Given the description of an element on the screen output the (x, y) to click on. 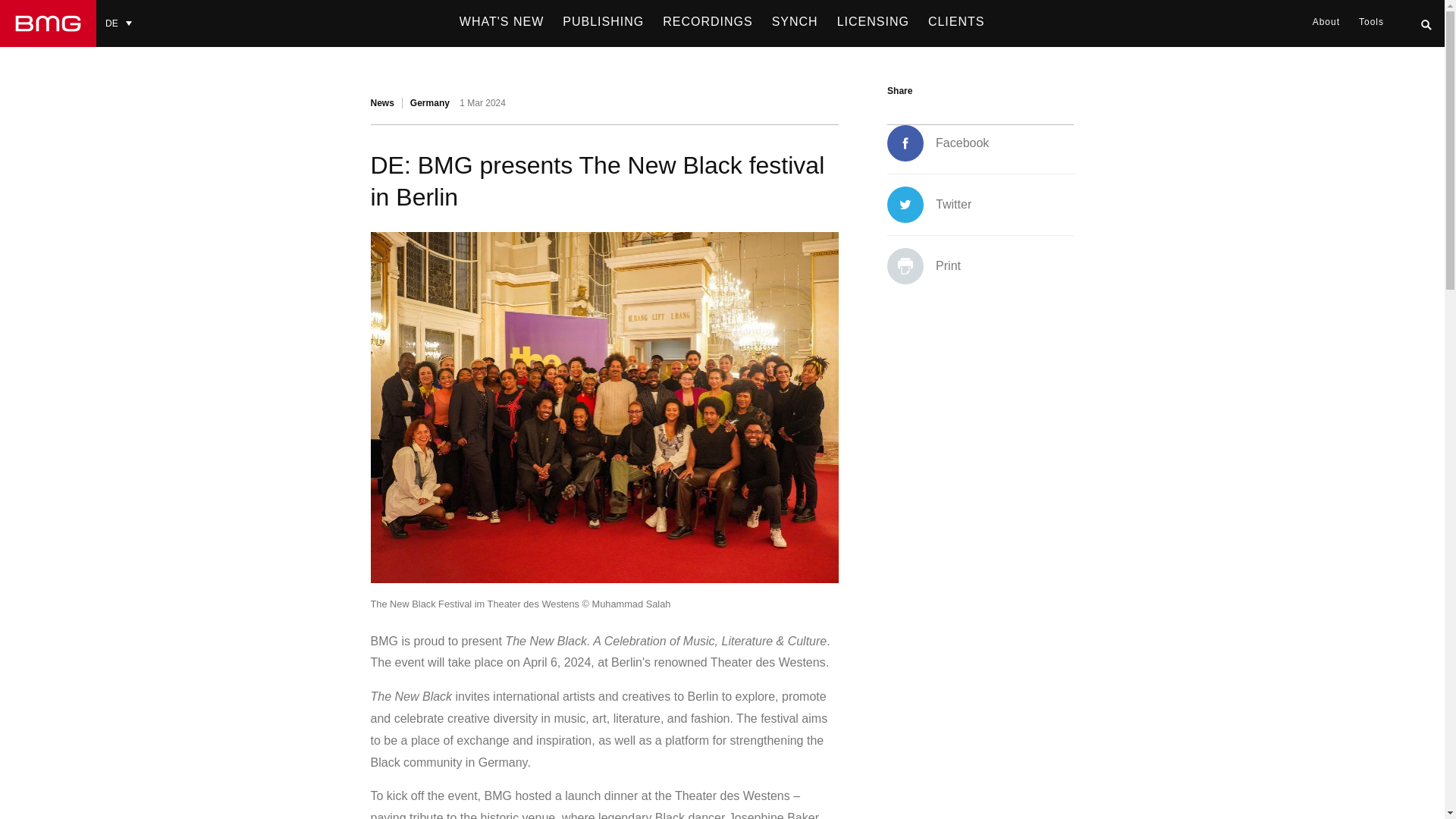
PUBLISHING (602, 22)
LICENSING (873, 22)
Facebook (937, 143)
BMG (48, 23)
RECORDINGS (707, 22)
CLIENTS (956, 22)
SYNCH (794, 22)
Print (923, 266)
About (1326, 22)
Tools (1371, 22)
WHAT'S NEW (501, 22)
Twitter (928, 204)
